Given the description of an element on the screen output the (x, y) to click on. 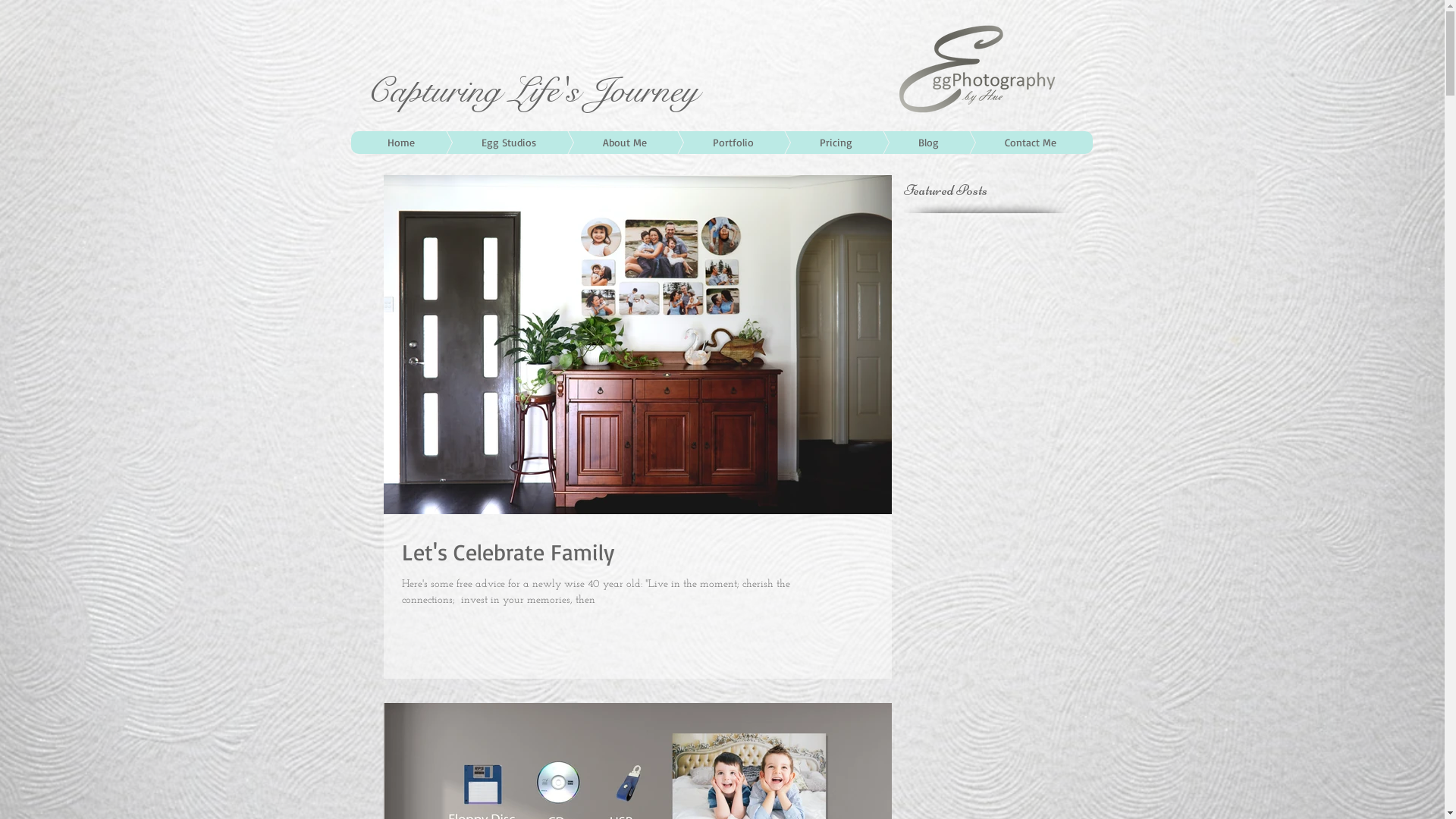
Home Element type: text (400, 142)
Egg Studios Element type: text (485, 142)
About Me Element type: text (601, 142)
Let's Celebrate Family Element type: text (637, 551)
Contact Me Element type: text (1007, 142)
Blog Element type: text (904, 142)
Pricing Element type: text (812, 142)
Portfolio Element type: text (710, 142)
